Given the description of an element on the screen output the (x, y) to click on. 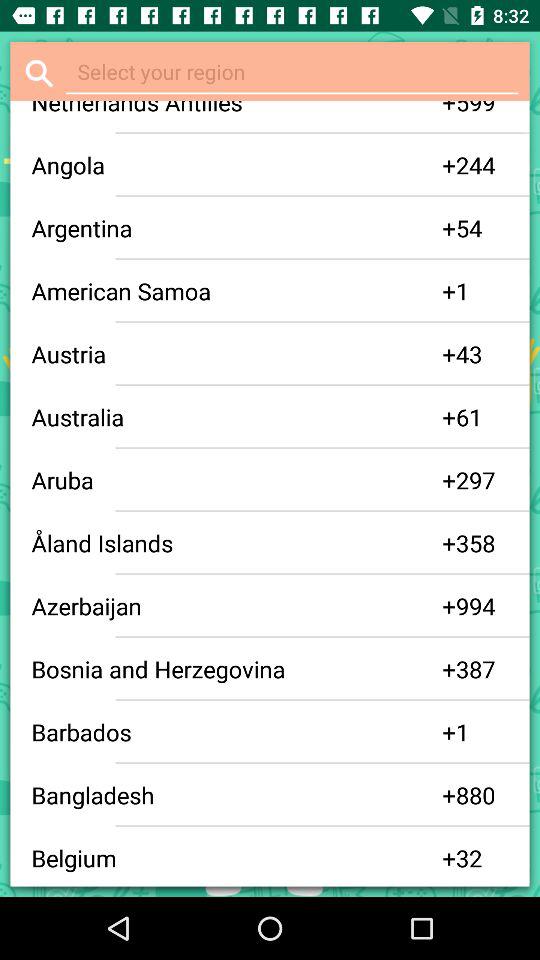
open the 43 app (482, 354)
